Given the description of an element on the screen output the (x, y) to click on. 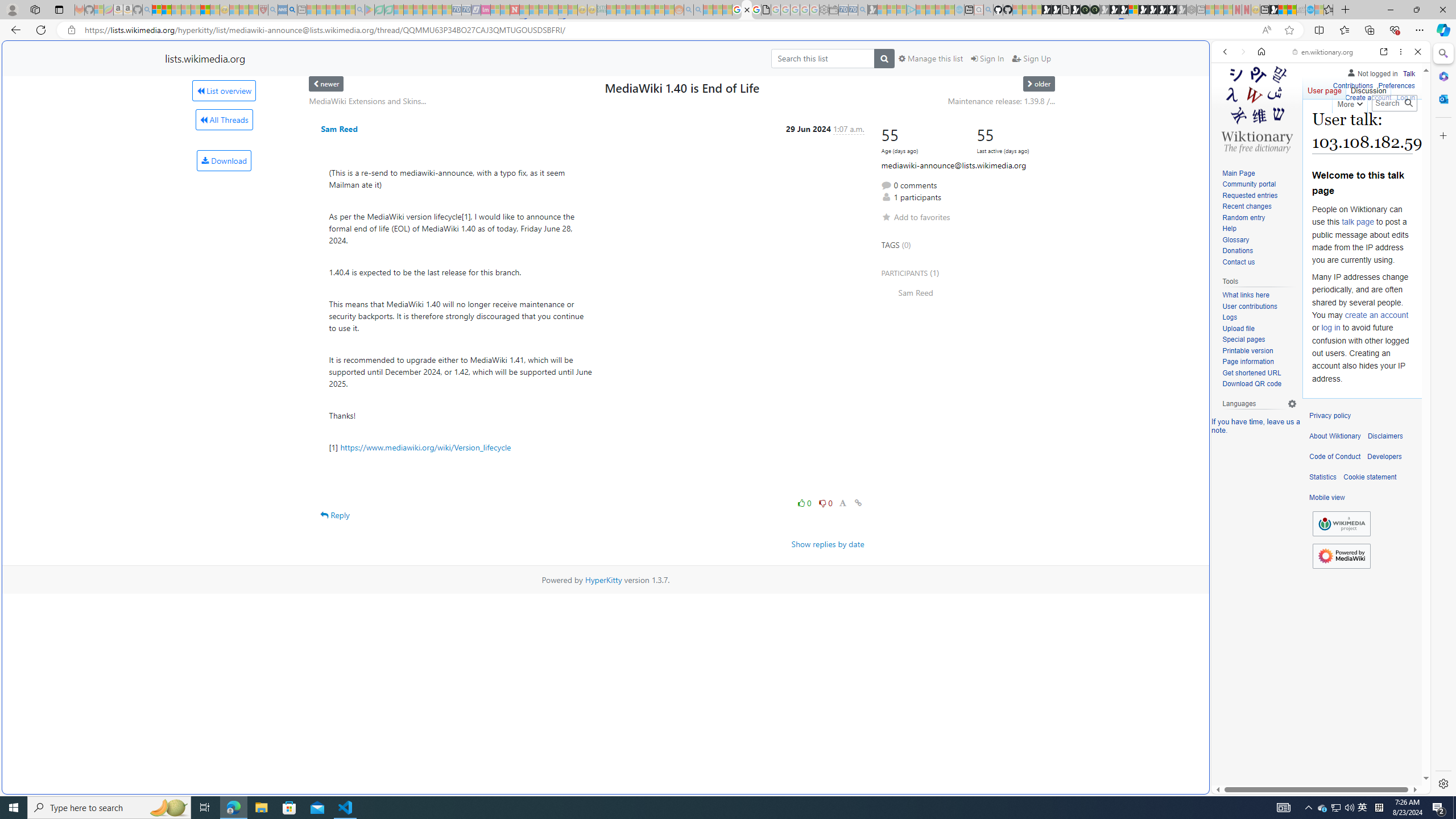
Wikimedia Foundation (1341, 524)
Search Filter, VIDEOS (1300, 129)
Community portal (1248, 184)
New Report Confirms 2023 Was Record Hot | Watch - Sleeping (195, 9)
Cookie statement (1369, 477)
